Given the description of an element on the screen output the (x, y) to click on. 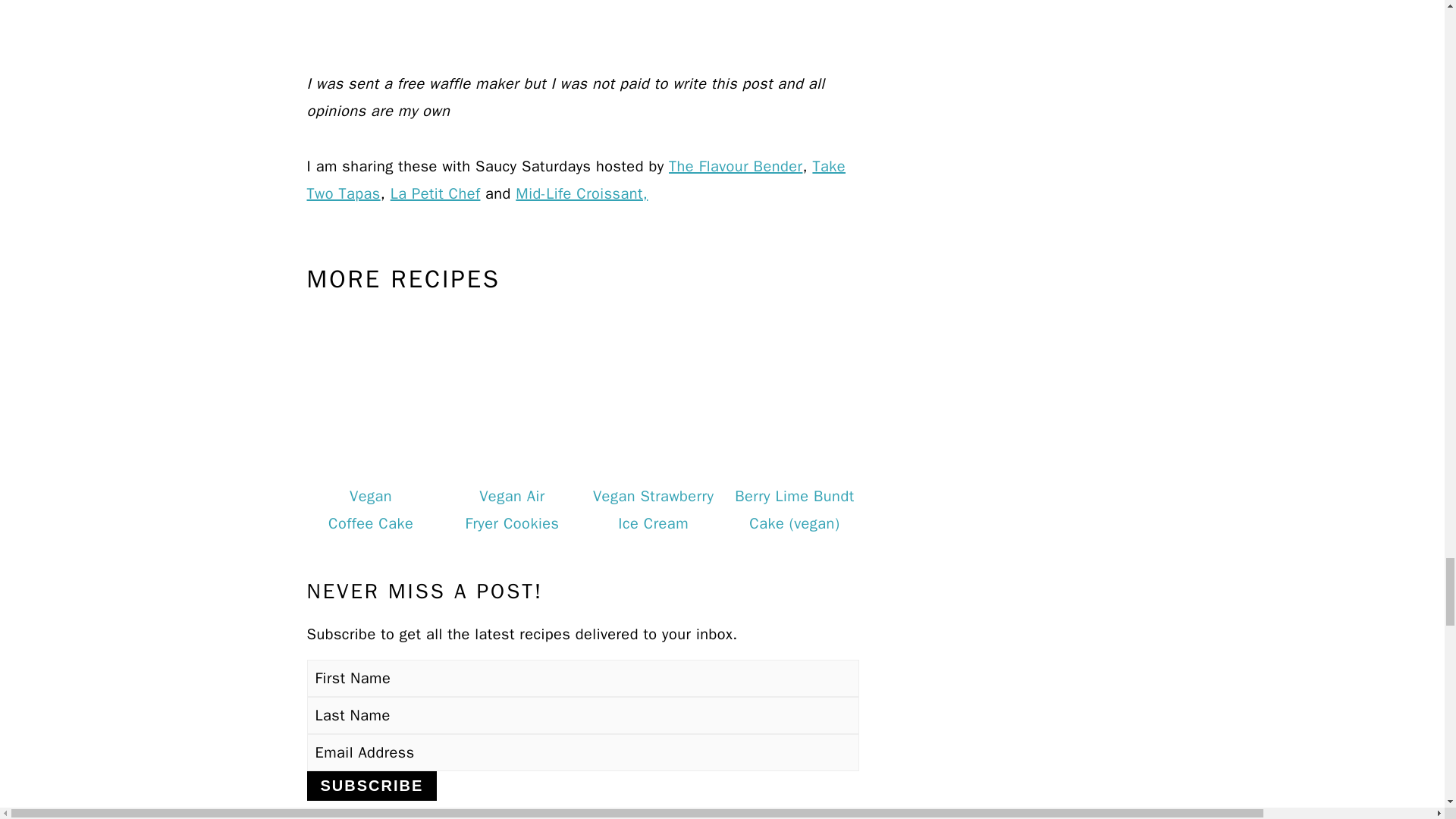
Subscribe (370, 785)
